Given the description of an element on the screen output the (x, y) to click on. 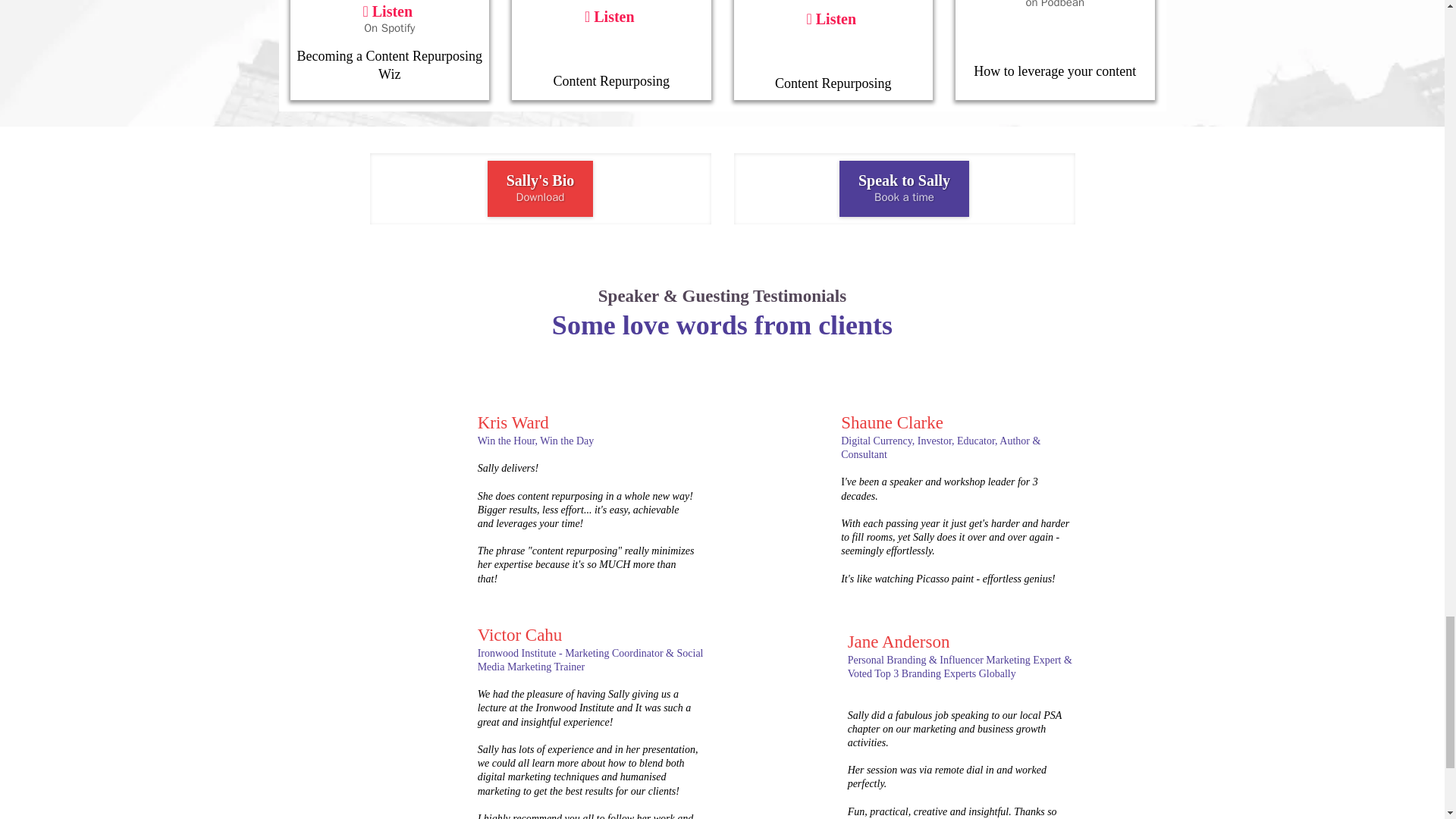
Listen (388, 23)
Listen (1054, 11)
